Given the description of an element on the screen output the (x, y) to click on. 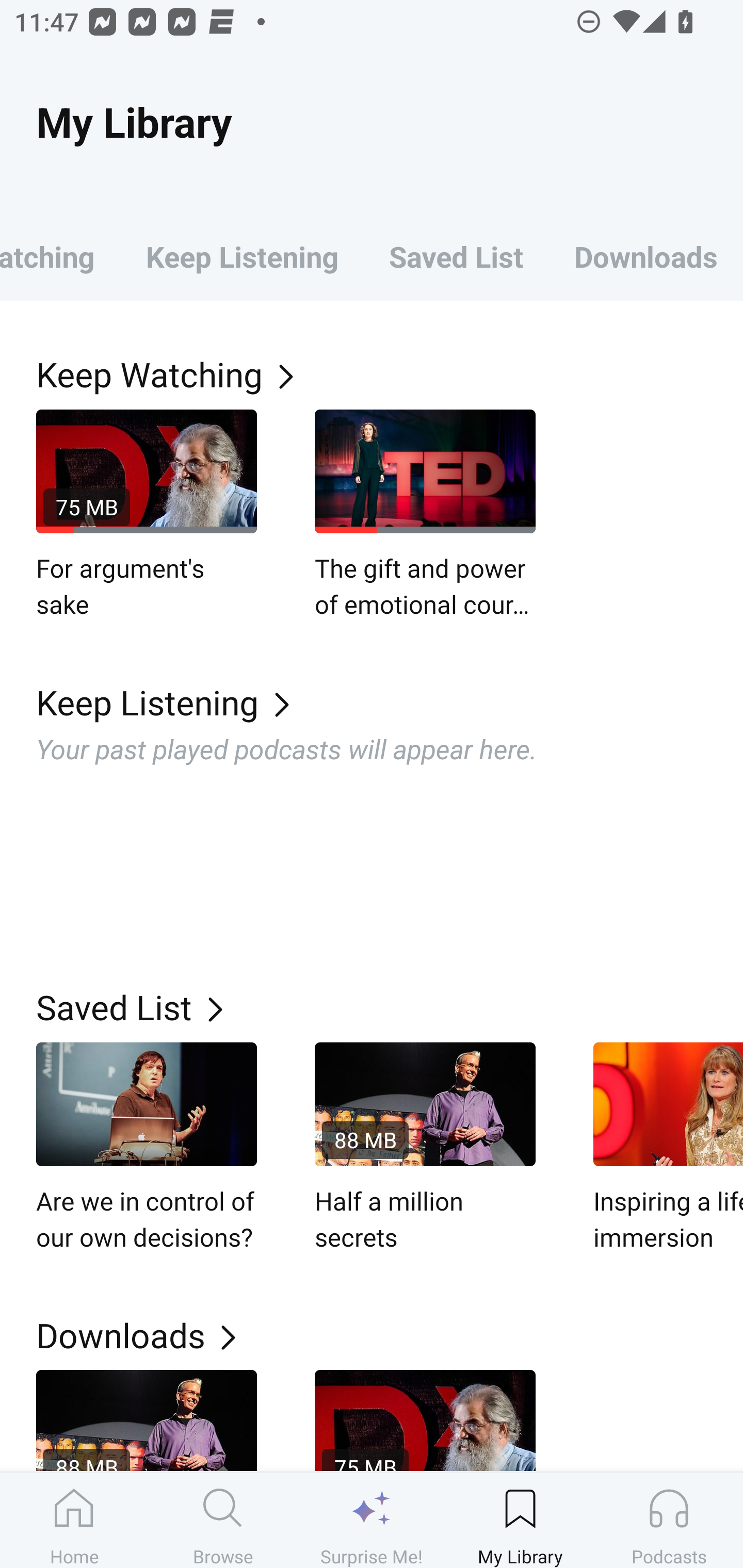
Keep Watching (60, 256)
Keep Listening (242, 256)
Saved List (456, 256)
Downloads (646, 256)
Keep Watching (389, 373)
75 MB For argument's sake (146, 514)
The gift and power of emotional courage (425, 514)
Keep Listening (389, 702)
Saved List (389, 1007)
Are we in control of our own decisions? (146, 1148)
88 MB Half a million secrets (425, 1148)
Inspiring a life of immersion (668, 1148)
Downloads (389, 1334)
88 MB (146, 1420)
75 MB (425, 1420)
Home (74, 1520)
Browse (222, 1520)
Surprise Me! (371, 1520)
My Library (519, 1520)
Podcasts (668, 1520)
